Given the description of an element on the screen output the (x, y) to click on. 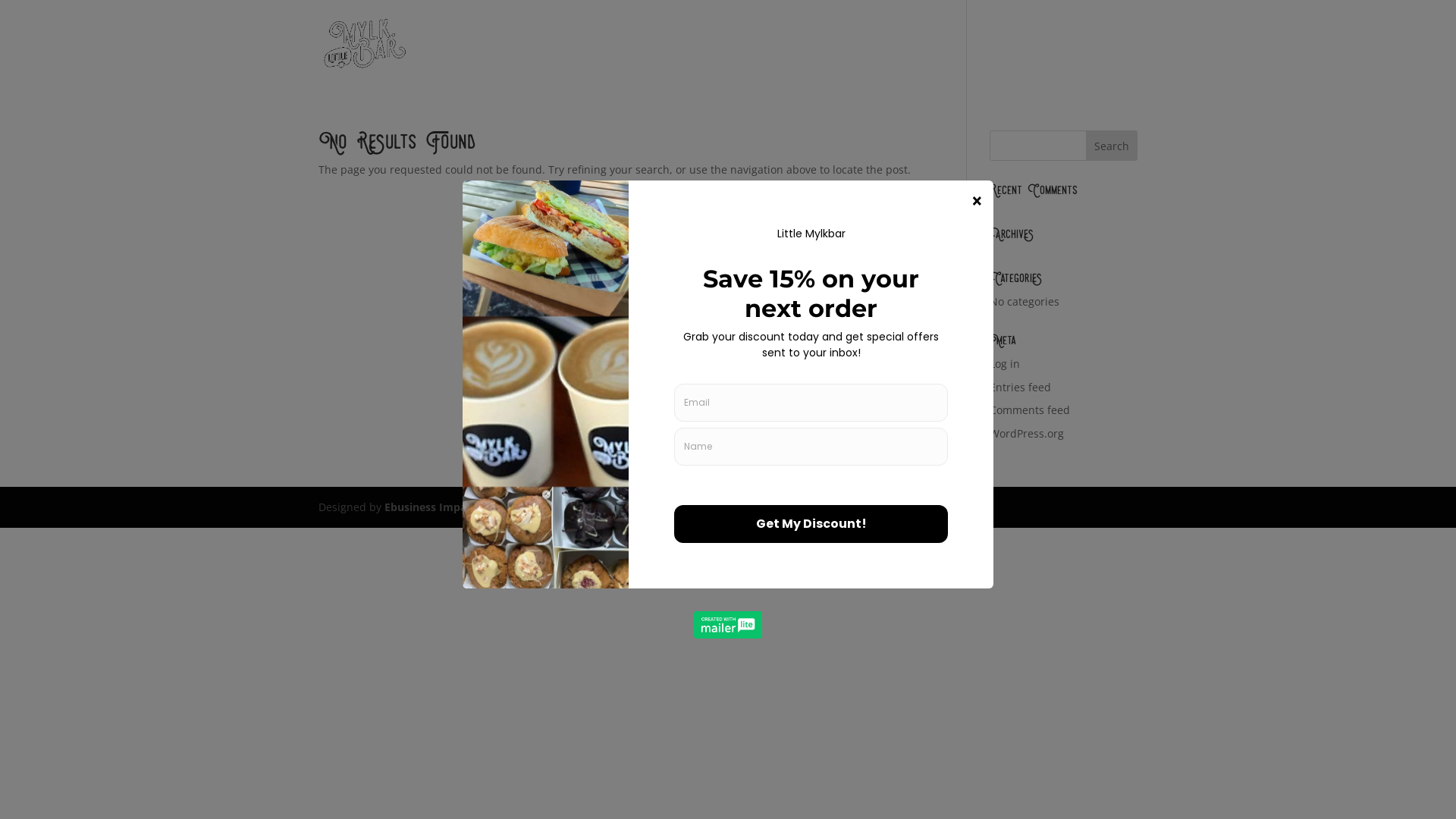
Search Element type: text (1111, 145)
Ebusiness Impact Element type: text (430, 506)
WordPress.org Element type: text (1026, 433)
About Element type: text (960, 61)
Menu Element type: text (1018, 61)
Entries feed Element type: text (1020, 386)
Contact Element type: text (1082, 61)
Log in Element type: text (1004, 363)
Home Element type: text (901, 61)
Comments feed Element type: text (1029, 409)
